Given the description of an element on the screen output the (x, y) to click on. 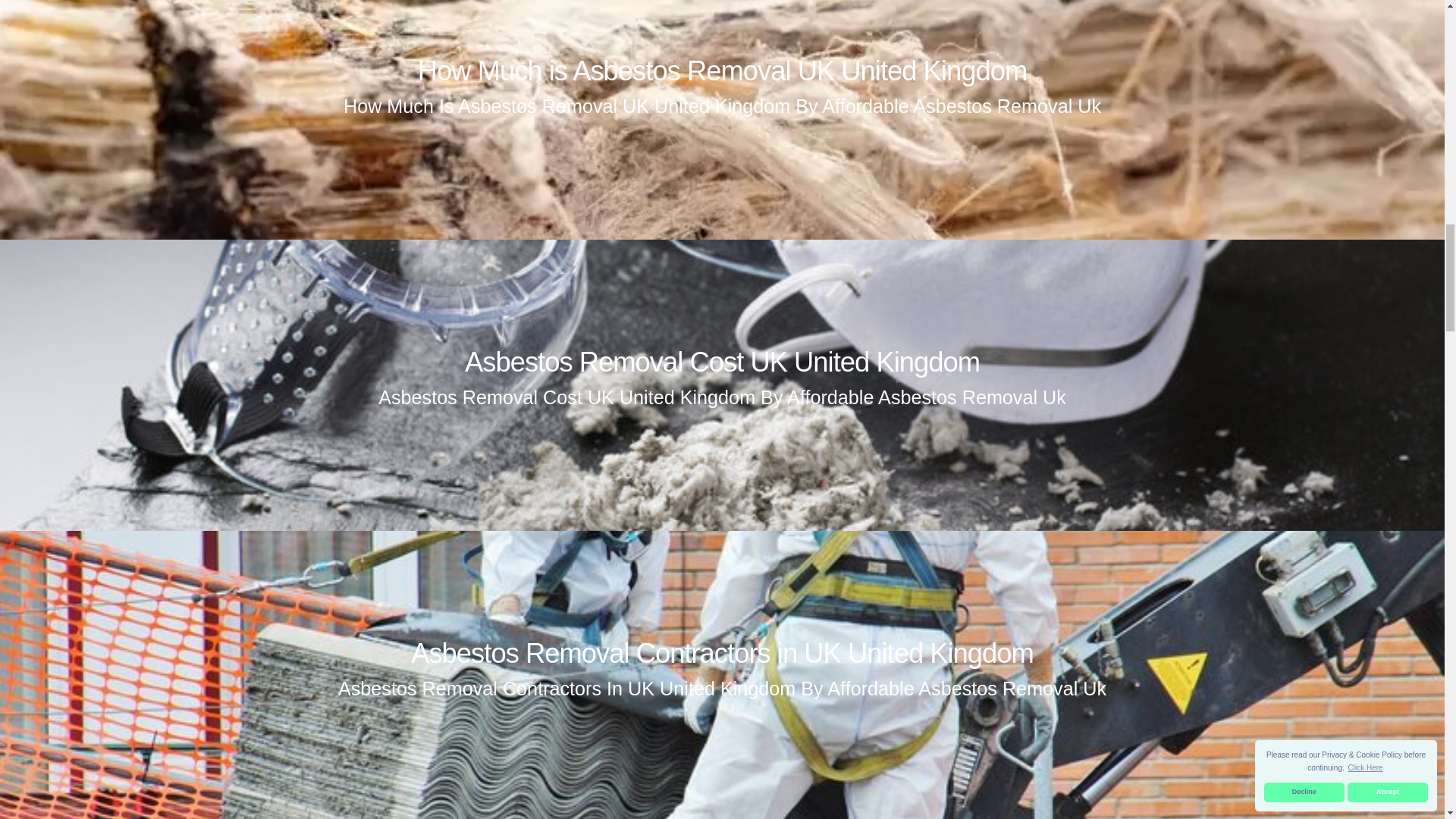
Asbestos Removal Contractors in UK United Kingdom (721, 653)
How Much is Asbestos Removal UK United Kingdom (721, 70)
Asbestos Removal Cost UK United Kingdom (721, 361)
